Given the description of an element on the screen output the (x, y) to click on. 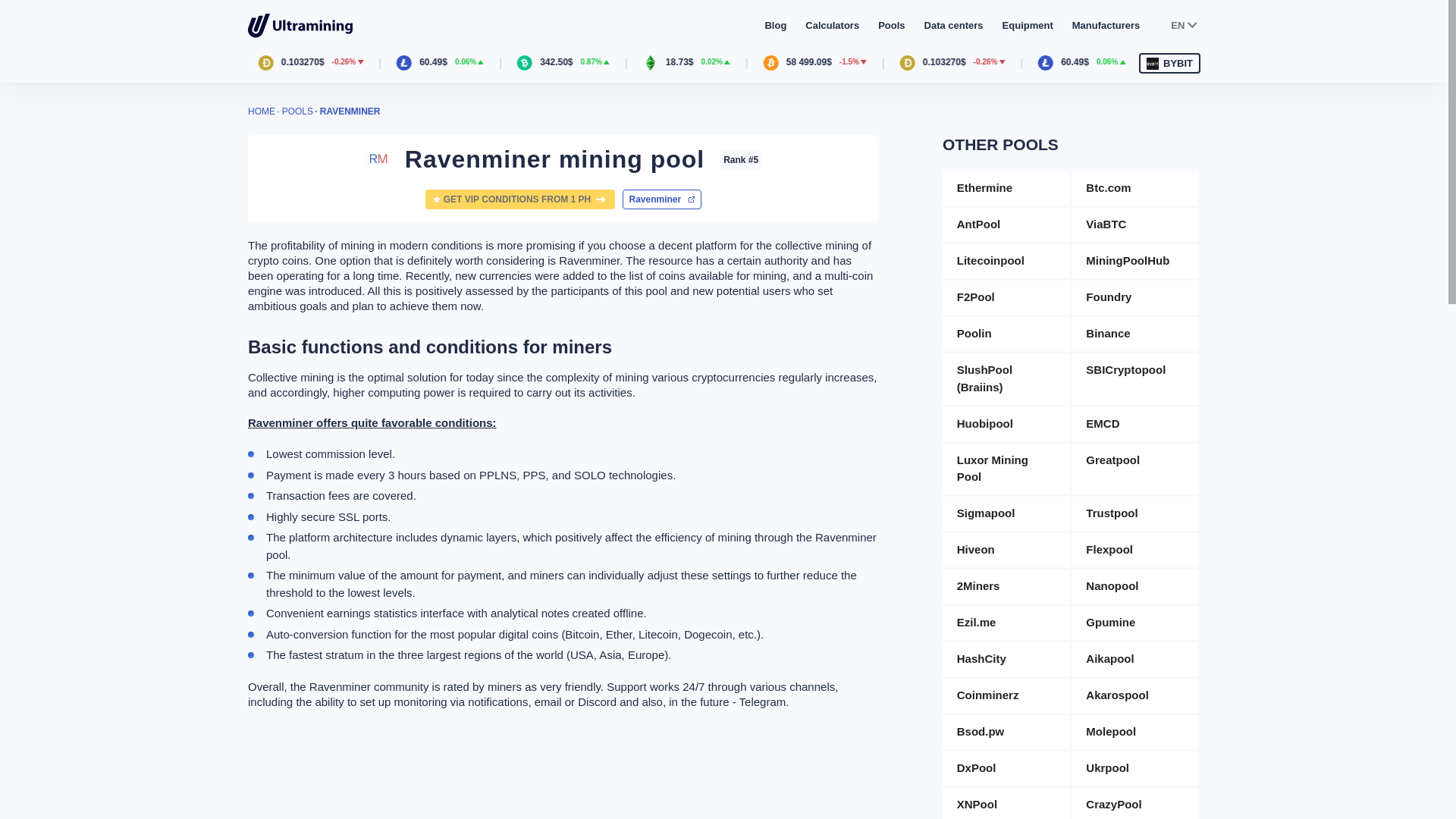
HOME (261, 111)
Data centers (954, 25)
POOLS (297, 111)
Calculators (832, 25)
Equipment (1027, 25)
Pools (890, 25)
EN (1183, 25)
BYBIT (1168, 63)
Manufacturers (1105, 25)
